Given the description of an element on the screen output the (x, y) to click on. 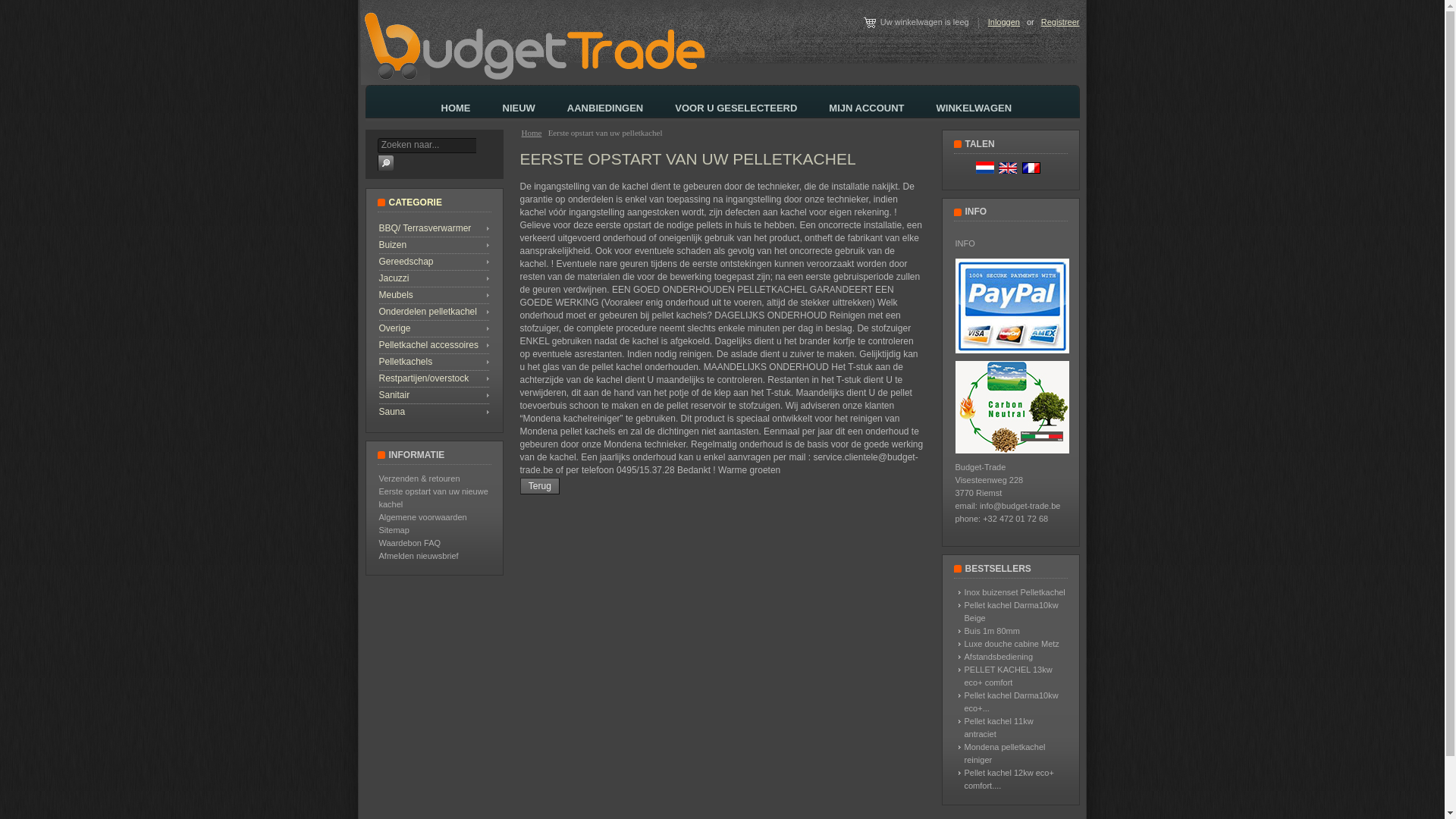
Luxe douche cabine Metz Element type: text (1011, 643)
VOOR U GESELECTEERD Element type: text (736, 106)
HOME Element type: text (456, 106)
Jacuzzi Element type: text (434, 278)
MIJN ACCOUNT Element type: text (867, 106)
Pelletkachels Element type: text (434, 361)
Pellet kachel 11kw antraciet Element type: text (998, 727)
3770 Riemst Element type: text (978, 492)
Pelletkachel accessoires Element type: text (434, 344)
NIEUW Element type: text (518, 106)
Afstandsbediening Element type: text (998, 656)
Buizen Element type: text (434, 244)
Inloggen Element type: text (1003, 20)
Sitemap Element type: text (394, 529)
Algemene voorwaarden Element type: text (423, 516)
 Terug  Element type: text (540, 485)
Mondena pelletkachel reiniger Element type: text (1004, 753)
 Francais  Element type: hover (1031, 167)
Visesteenweg 228 Element type: text (989, 479)
Verzenden & retouren Element type: text (419, 478)
 Dutch  Element type: hover (984, 167)
Eerste opstart van uw nieuwe kachel Element type: text (433, 497)
WINKELWAGEN Element type: text (974, 106)
Sauna Element type: text (434, 411)
Restpartijen/overstock Element type: text (434, 378)
 English  Element type: hover (1007, 167)
Pellet kachel Darma10kw Beige Element type: text (1011, 611)
Gereedschap Element type: text (434, 261)
 Budget-Trade  Element type: hover (534, 47)
Sanitair Element type: text (434, 394)
Budget-Trade Element type: text (980, 466)
Meubels Element type: text (434, 294)
Inox buizenset Pelletkachel Element type: text (1014, 591)
BBQ/ Terrasverwarmer Element type: text (434, 227)
Buis 1m 80mm Element type: text (991, 630)
Waardebon FAQ Element type: text (410, 542)
phone: +32 472 01 72 68 Element type: text (1001, 518)
AANBIEDINGEN Element type: text (605, 106)
Home Element type: text (531, 132)
Overige Element type: text (434, 328)
PELLET KACHEL 13kw eco+ comfort Element type: text (1008, 676)
Pellet kachel Darma10kw eco+... Element type: text (1011, 701)
Onderdelen pelletkachel Element type: text (434, 311)
Pellet kachel 12kw eco+ comfort.... Element type: text (1009, 779)
Registreer Element type: text (1060, 20)
Afmelden nieuwsbrief Element type: text (418, 555)
email: info@budget-trade.be Element type: text (1007, 505)
